Given the description of an element on the screen output the (x, y) to click on. 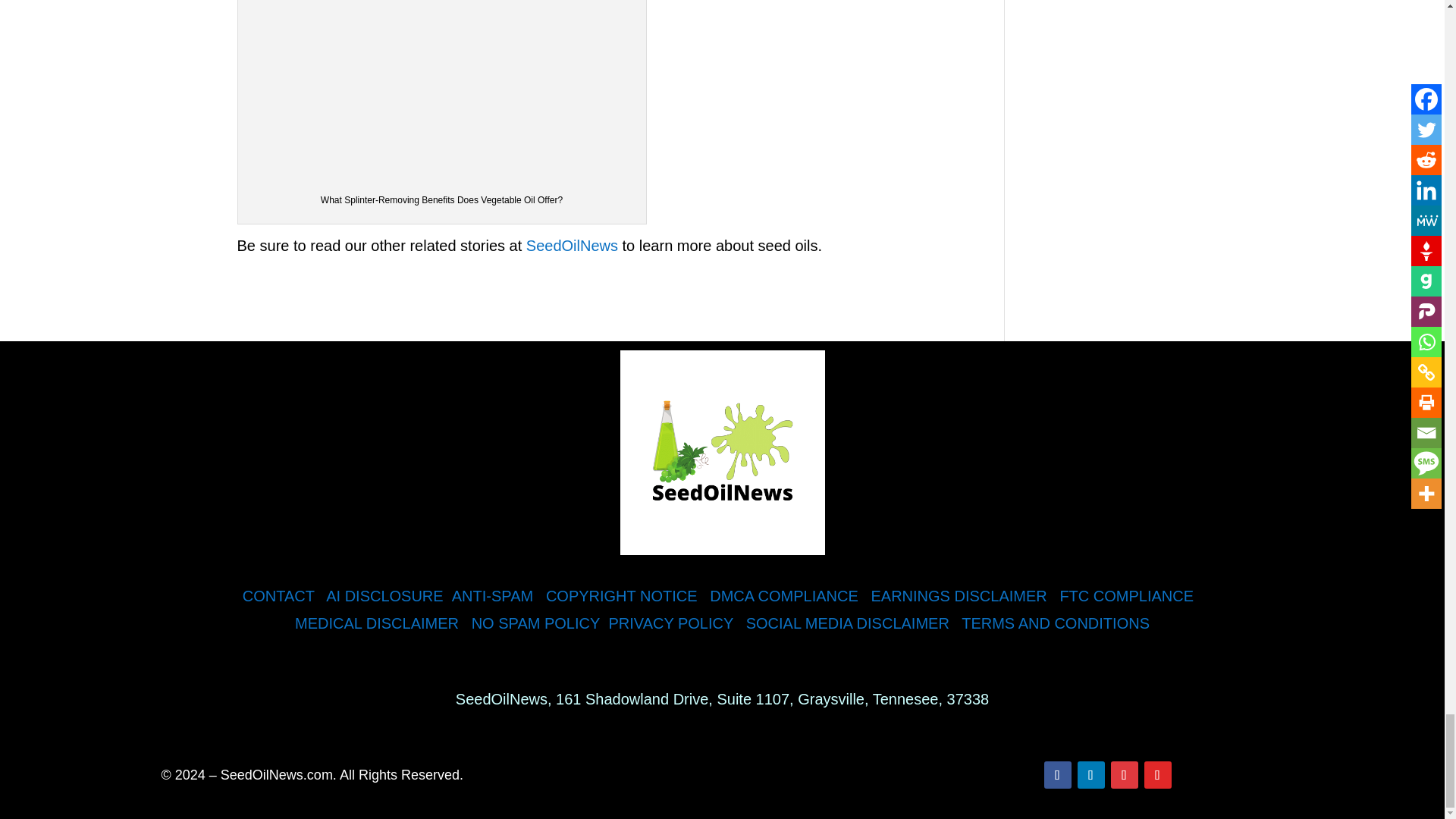
What Splinter-Removing Benefits Does Vegetable Oil Offer? (442, 89)
